Given the description of an element on the screen output the (x, y) to click on. 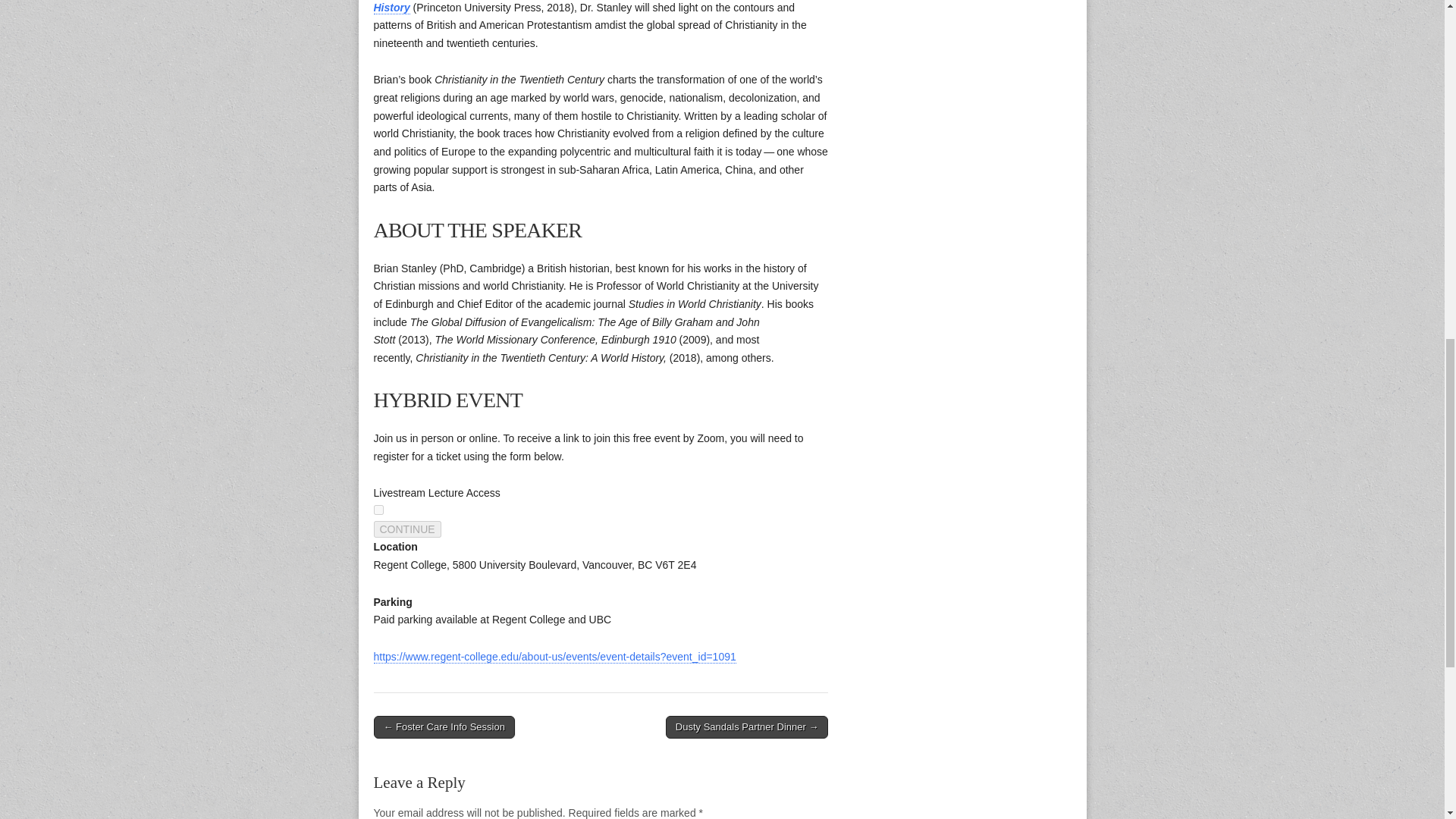
Christianity in the Twentieth Century: A World History (563, 7)
CONTINUE (406, 528)
1 (377, 510)
